Given the description of an element on the screen output the (x, y) to click on. 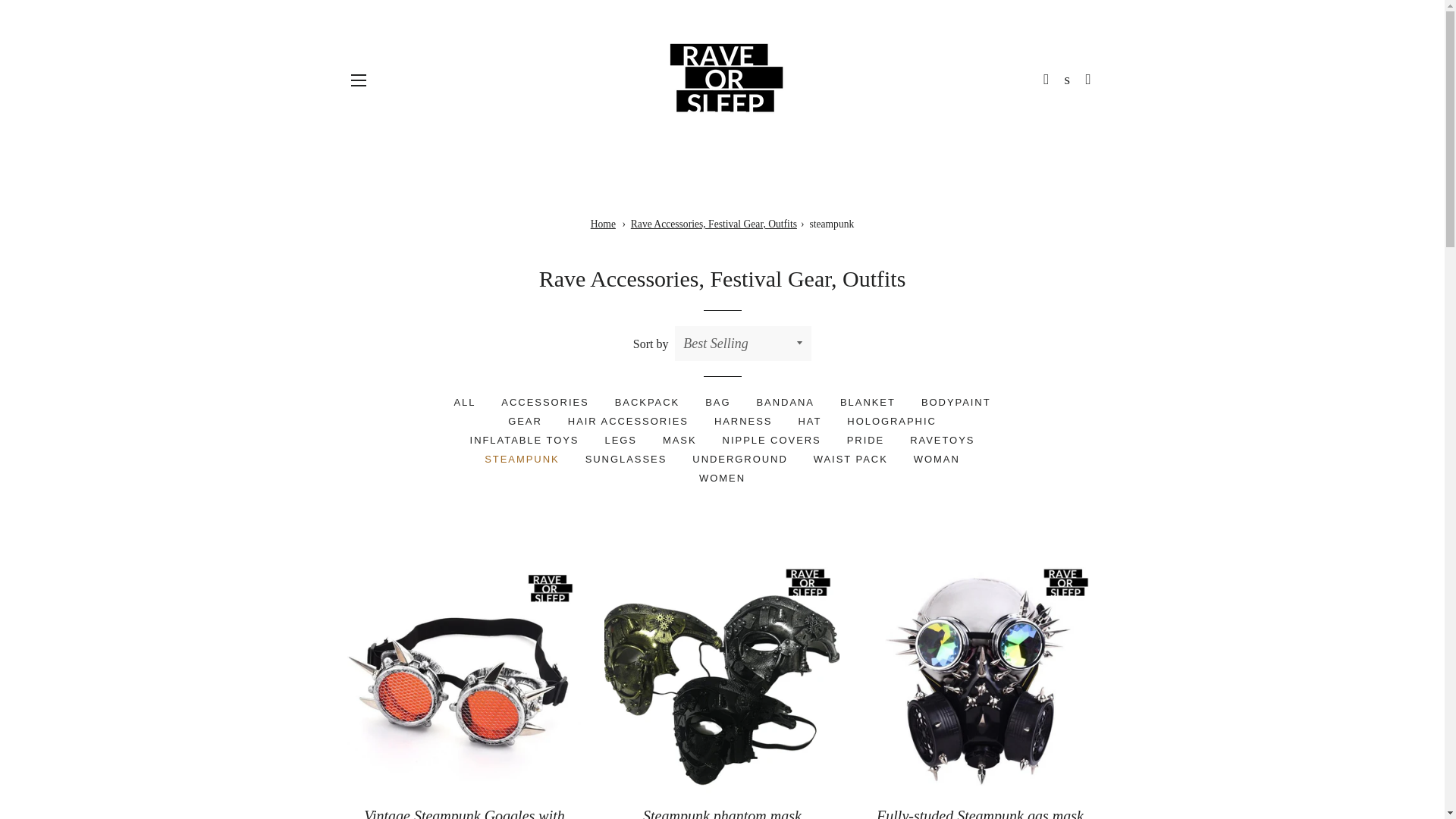
Show products matching tag Pride (865, 439)
Show products matching tag accessories (544, 402)
Show products matching tag nipple covers (771, 439)
Show products matching tag gear (524, 420)
Show products matching tag mask (678, 439)
Show products matching tag harness (743, 420)
Show products matching tag blanket (867, 402)
Home (603, 224)
Show products matching tag hat (809, 420)
Show products matching tag bandana (784, 402)
Show products matching tag bag (717, 402)
Show products matching tag ravetoys (941, 439)
Show products matching tag legs (619, 439)
Show products matching tag inflatable toys (524, 439)
Show products matching tag hair accessories (628, 420)
